Given the description of an element on the screen output the (x, y) to click on. 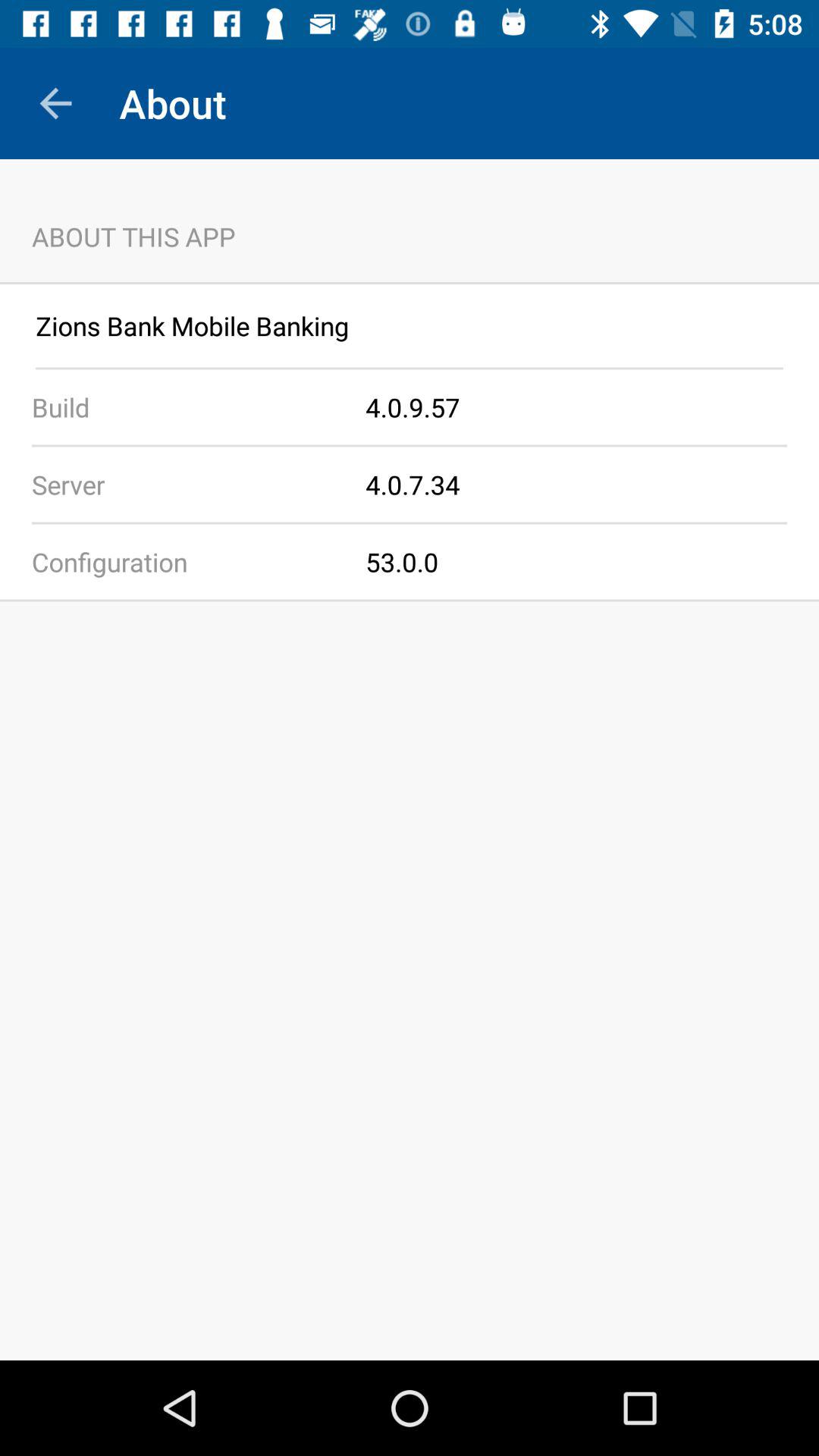
select configuration icon (182, 561)
